Given the description of an element on the screen output the (x, y) to click on. 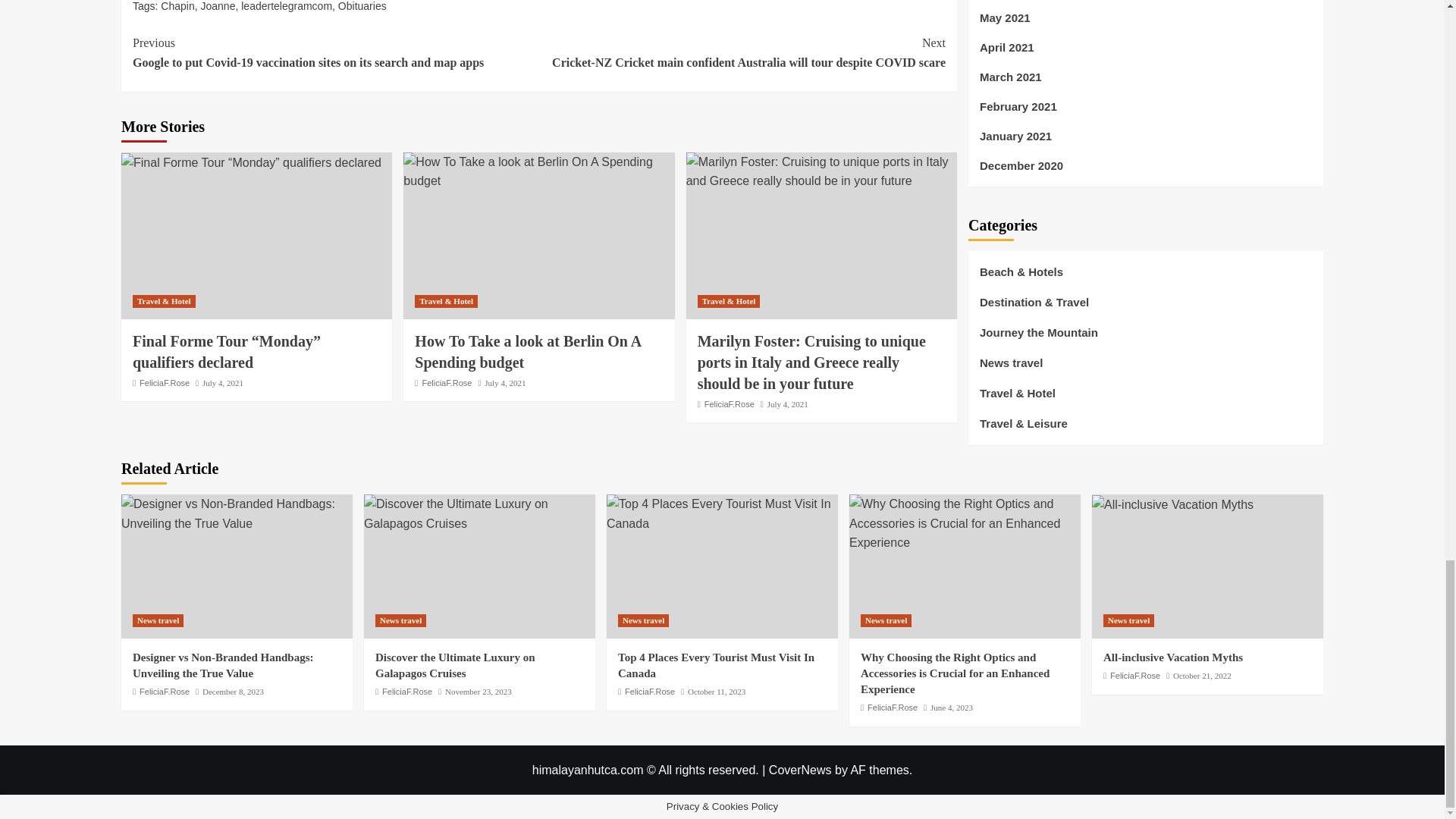
Joanne (217, 6)
Obituaries (362, 6)
Discover the Ultimate Luxury on Galapagos Cruises (479, 513)
Designer vs Non-Branded Handbags: Unveiling the True Value (236, 513)
Chapin (176, 6)
How To Take a look at Berlin On A Spending budget (527, 351)
All-inclusive Vacation Myths (1172, 505)
FeliciaF.Rose (446, 382)
Top 4 Places Every Tourist Must Visit In Canada (722, 513)
leadertelegramcom (286, 6)
July 4, 2021 (504, 382)
